Given the description of an element on the screen output the (x, y) to click on. 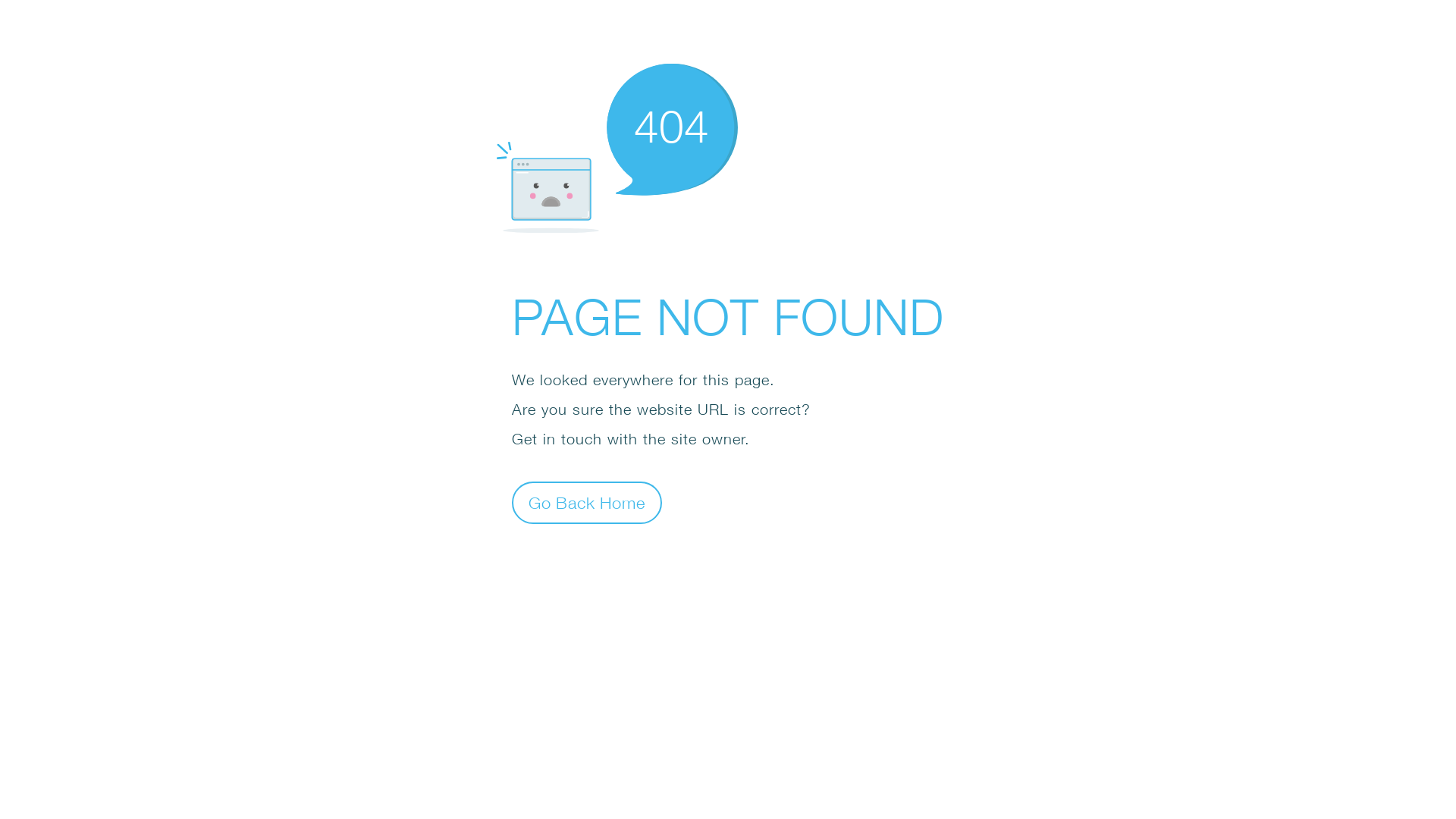
Go Back Home Element type: text (586, 502)
